Given the description of an element on the screen output the (x, y) to click on. 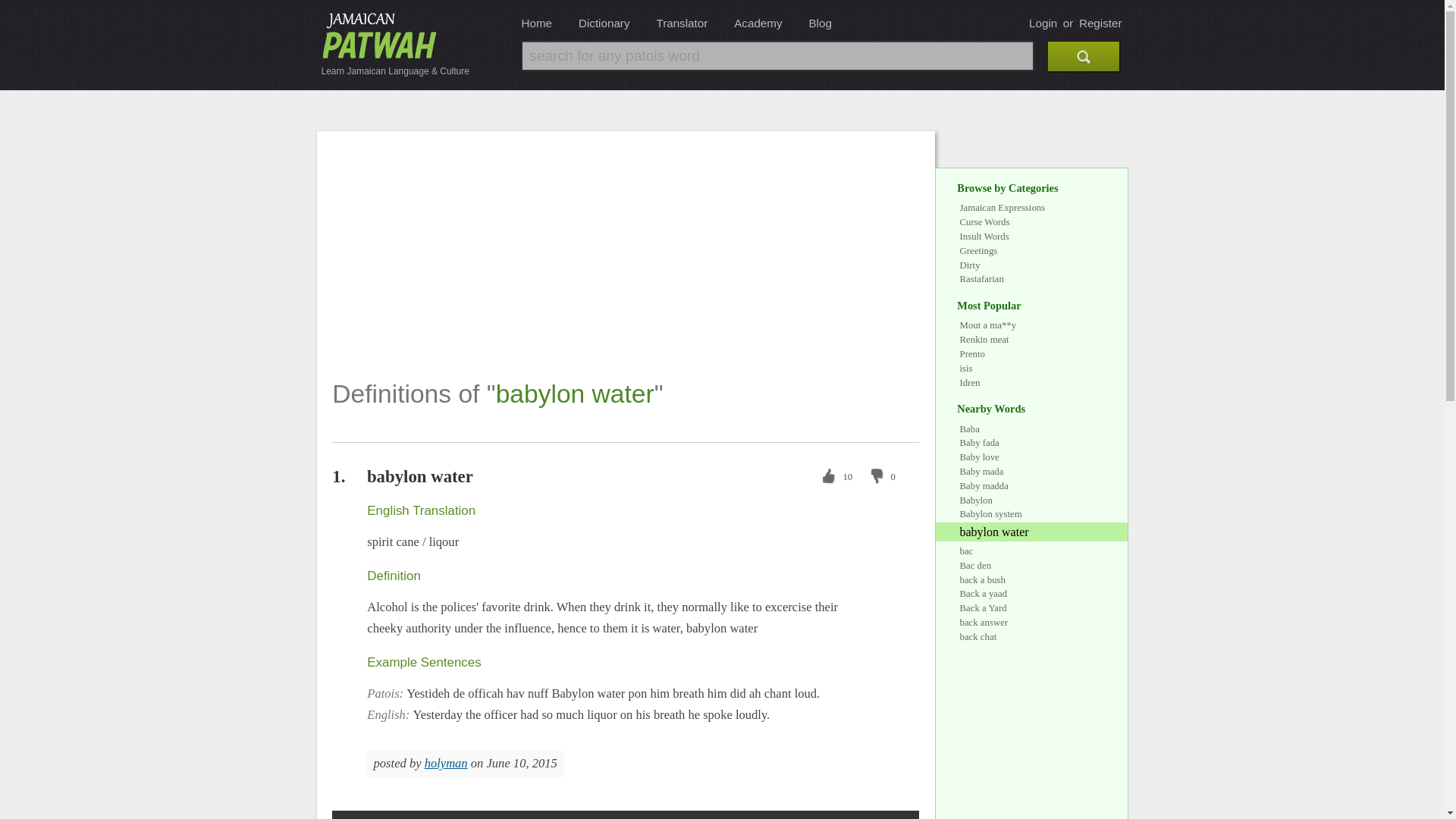
Blog (819, 22)
isis (965, 368)
Academy (757, 22)
Dirty (969, 265)
Idren (969, 382)
back a bush (982, 579)
Baby fada (978, 442)
Baby madda (984, 485)
Rastafarian (981, 278)
Baby love (978, 457)
Jamaican Expressions (1002, 207)
Translator (681, 22)
Dictionary (604, 22)
holyman (446, 762)
Prento (972, 353)
